Given the description of an element on the screen output the (x, y) to click on. 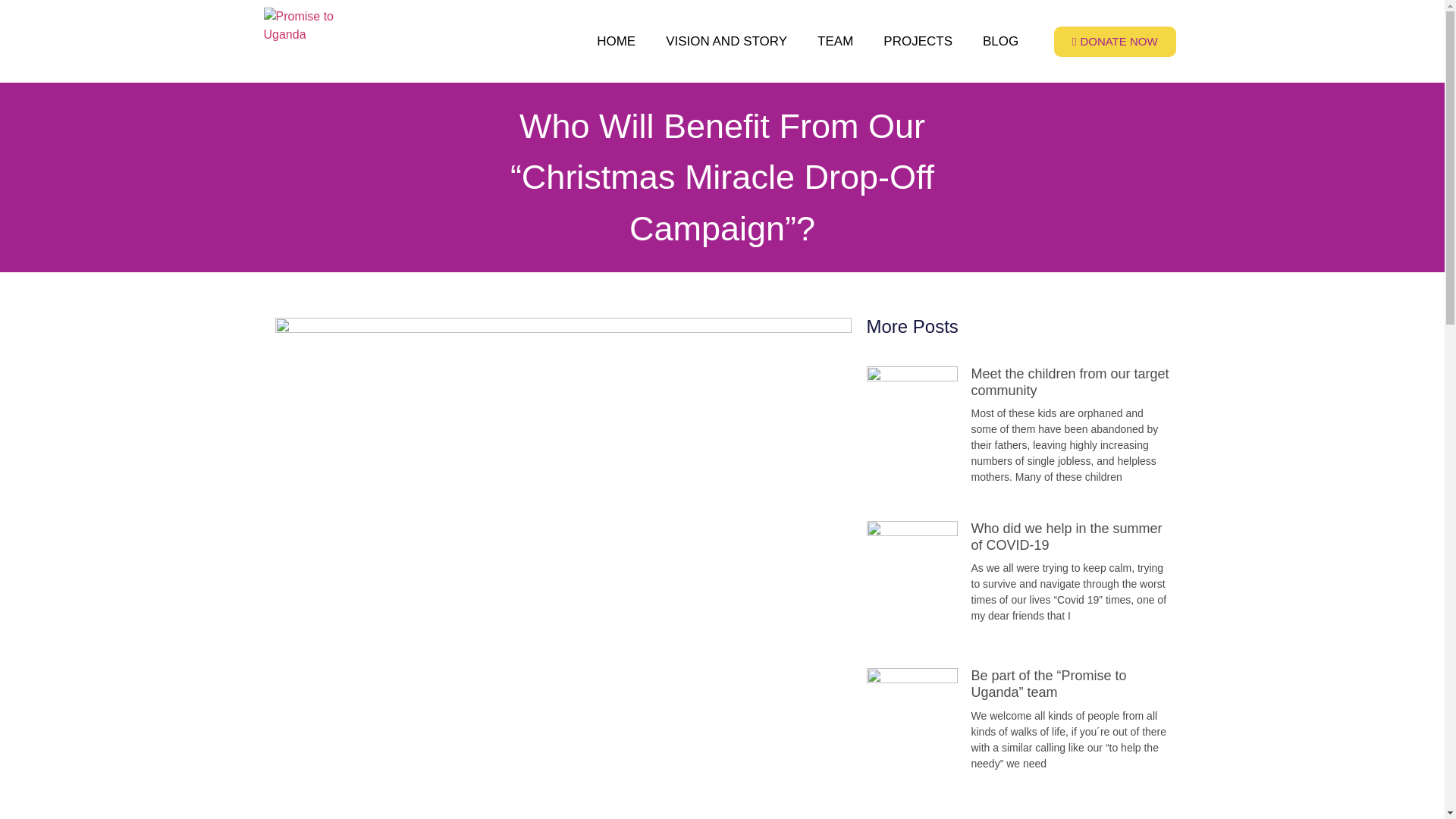
BLOG (1000, 41)
Who did we help in the summer of COVID-19 (1066, 536)
HOME (615, 41)
PROJECTS (917, 41)
DONATE NOW (1115, 40)
TEAM (834, 41)
Meet the children from our target community (1070, 382)
VISION AND STORY (726, 41)
